Given the description of an element on the screen output the (x, y) to click on. 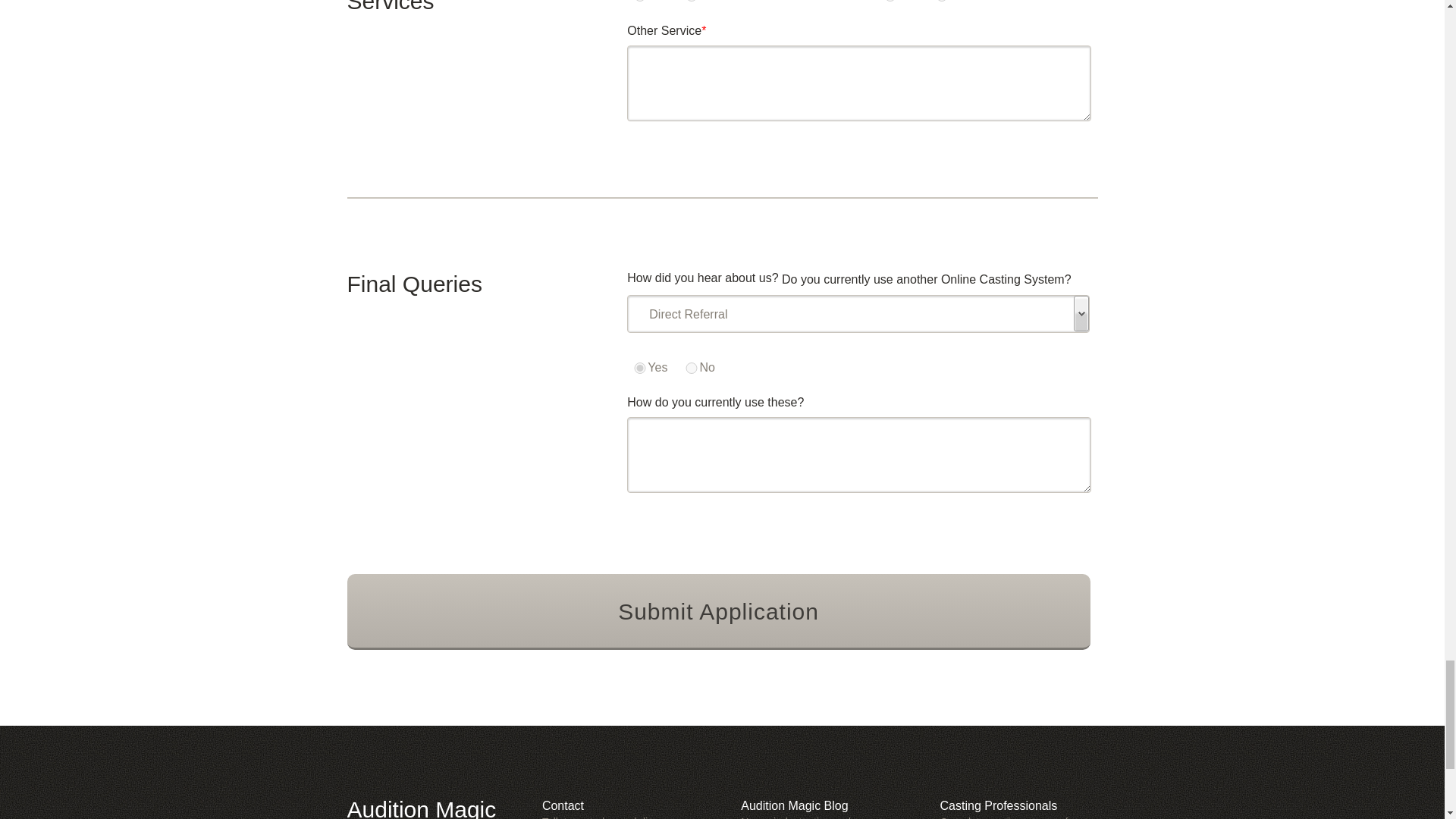
Casting Professionals (999, 805)
Contact (562, 805)
Audition Magic Blog (794, 805)
Submit Application (718, 612)
